Given the description of an element on the screen output the (x, y) to click on. 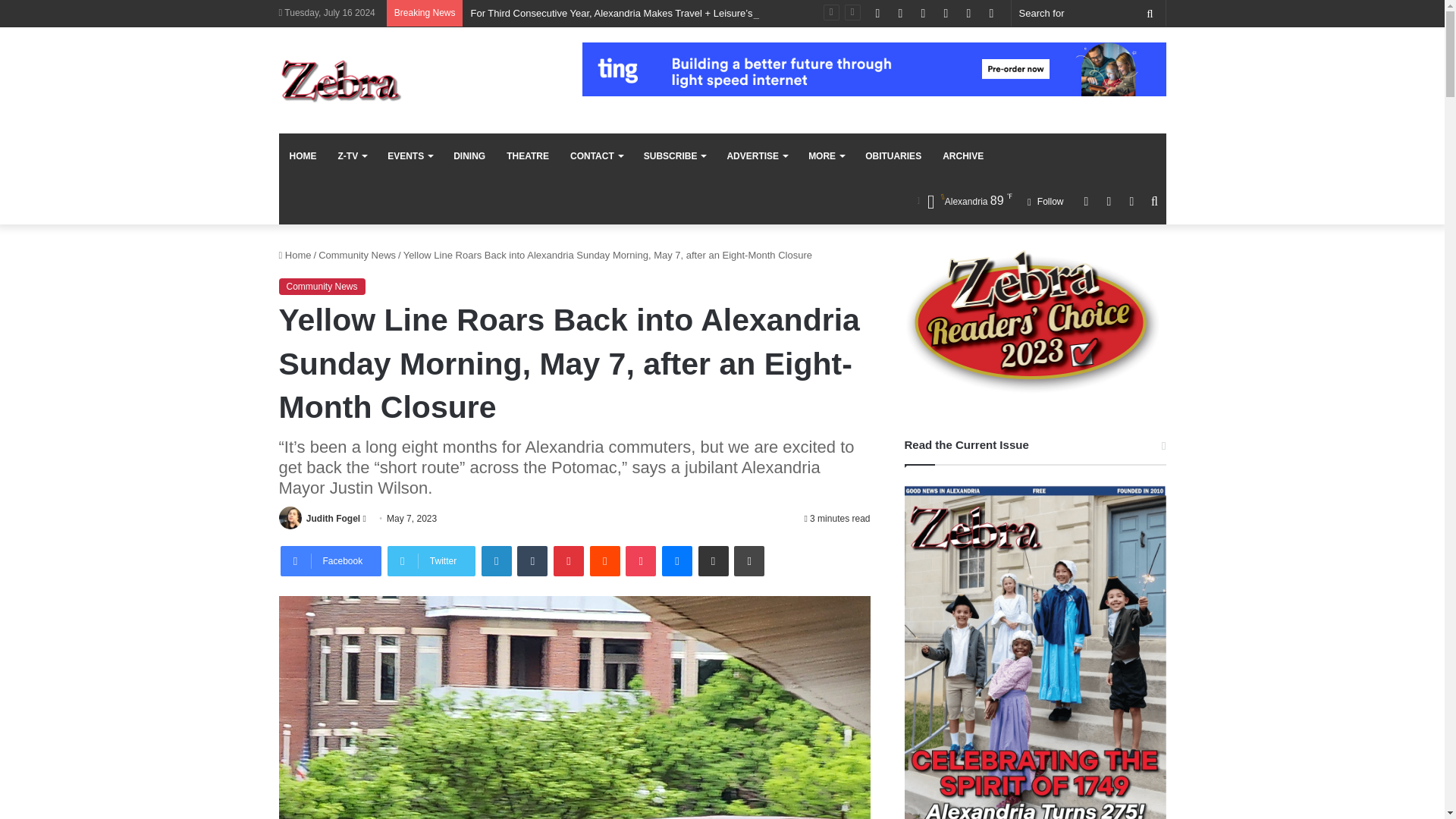
Search for (1088, 13)
Ting ads 2023 Zebra (874, 69)
Twitter (431, 561)
CONTACT (596, 156)
Search for (1149, 13)
SUBSCRIBE (674, 156)
Facebook (331, 561)
THEATRE (527, 156)
Z-TV (352, 156)
Tumblr (531, 561)
Judith Fogel (332, 518)
HOME (303, 156)
MORE (825, 156)
Scattered Clouds (964, 200)
Reddit (604, 561)
